Given the description of an element on the screen output the (x, y) to click on. 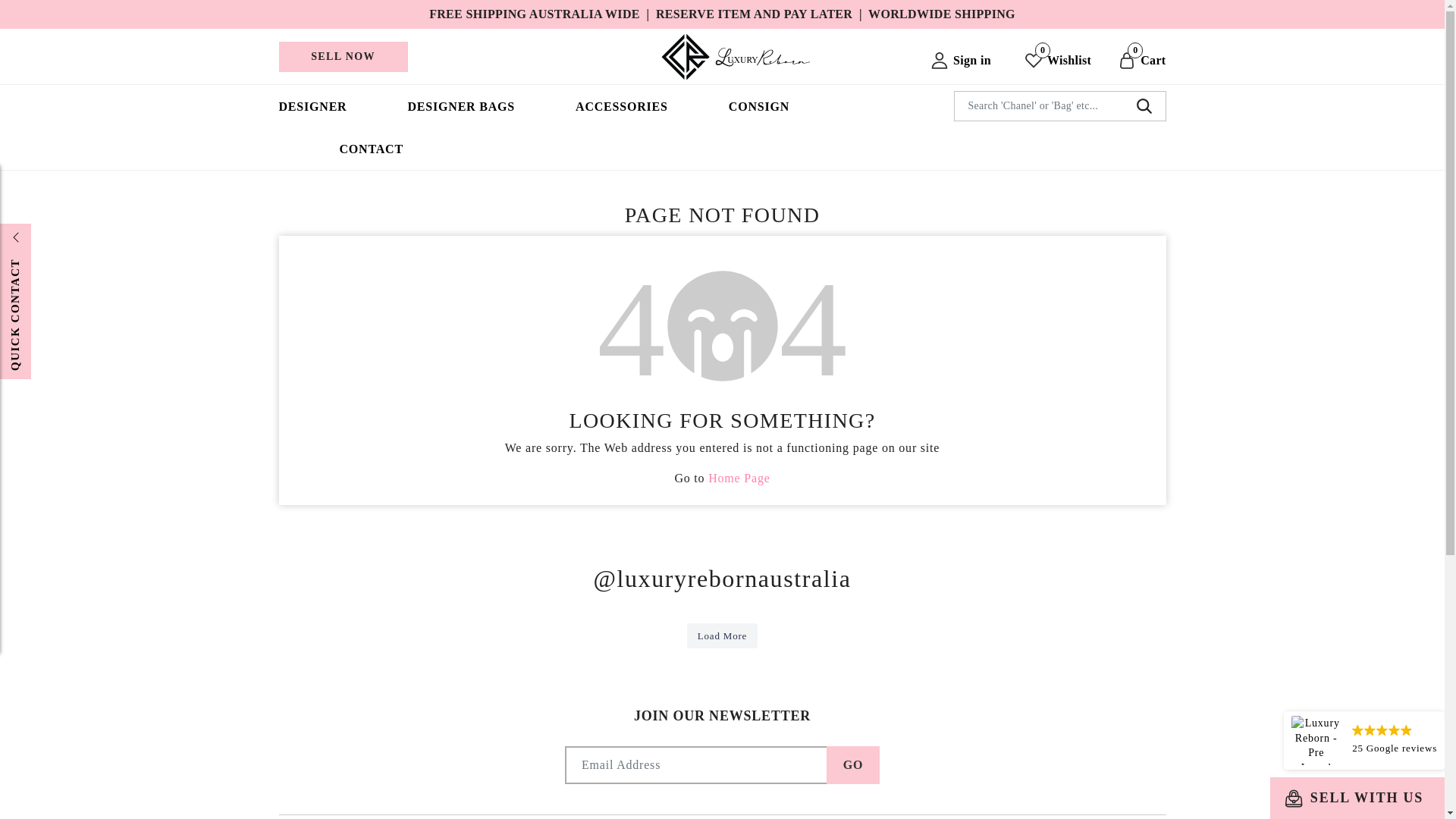
luxuryrebornaustralia (721, 578)
Sell Now (343, 56)
Go (853, 764)
Search (1143, 105)
Luxury Reborn (735, 55)
SELL NOW (343, 56)
Wishlist (1058, 60)
Sign in (961, 60)
CONTACT (371, 148)
My Account (961, 60)
